Given the description of an element on the screen output the (x, y) to click on. 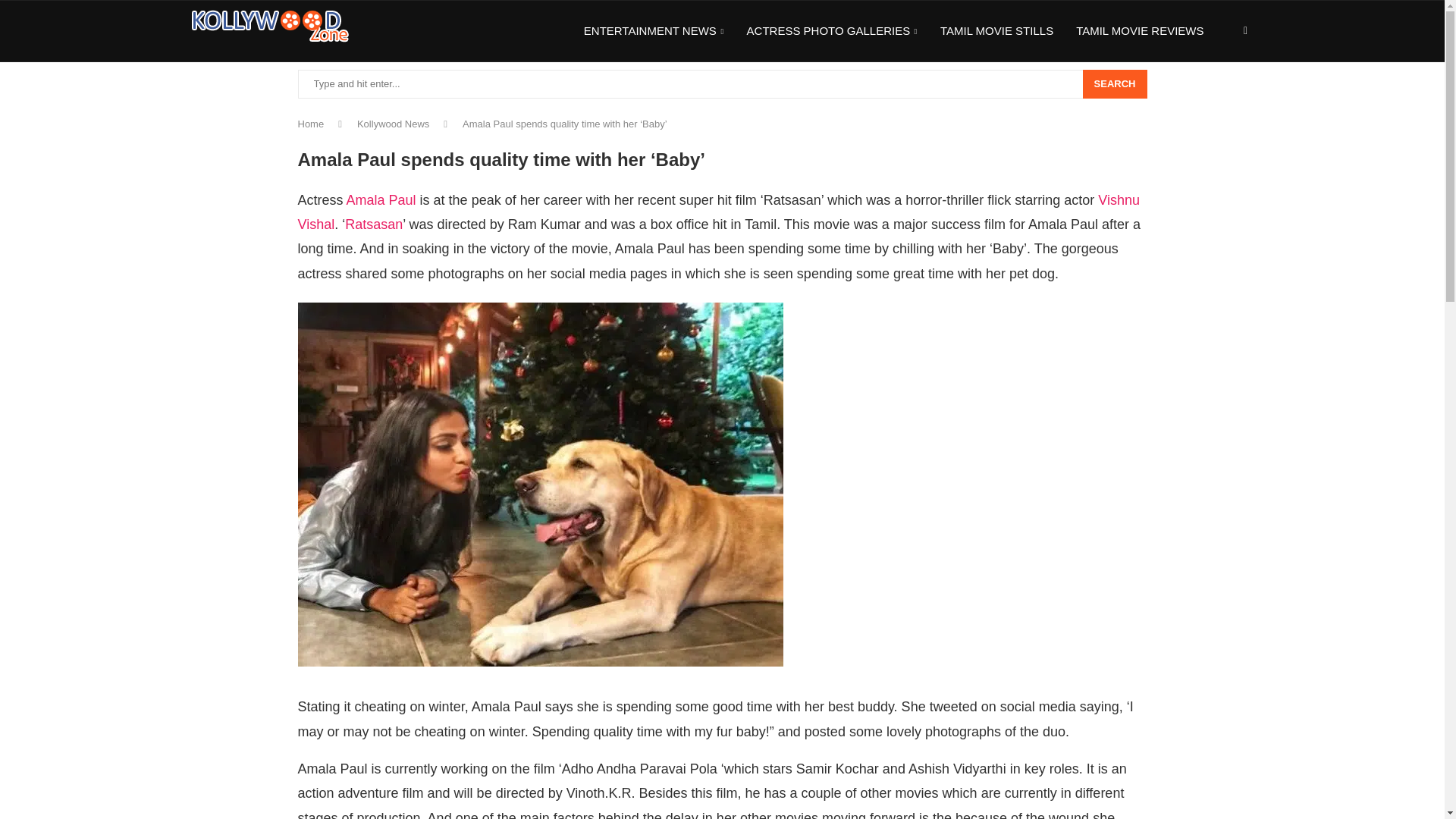
Ratsasan (374, 224)
TAMIL MOVIE STILLS (996, 30)
TAMIL MOVIE REVIEWS (1139, 30)
Home (310, 123)
Kollywood News (392, 123)
Amala Paul (381, 200)
ACTRESS PHOTO GALLERIES (831, 31)
SEARCH (1115, 83)
ENTERTAINMENT NEWS (653, 31)
Vishnu Vishal (718, 211)
